Given the description of an element on the screen output the (x, y) to click on. 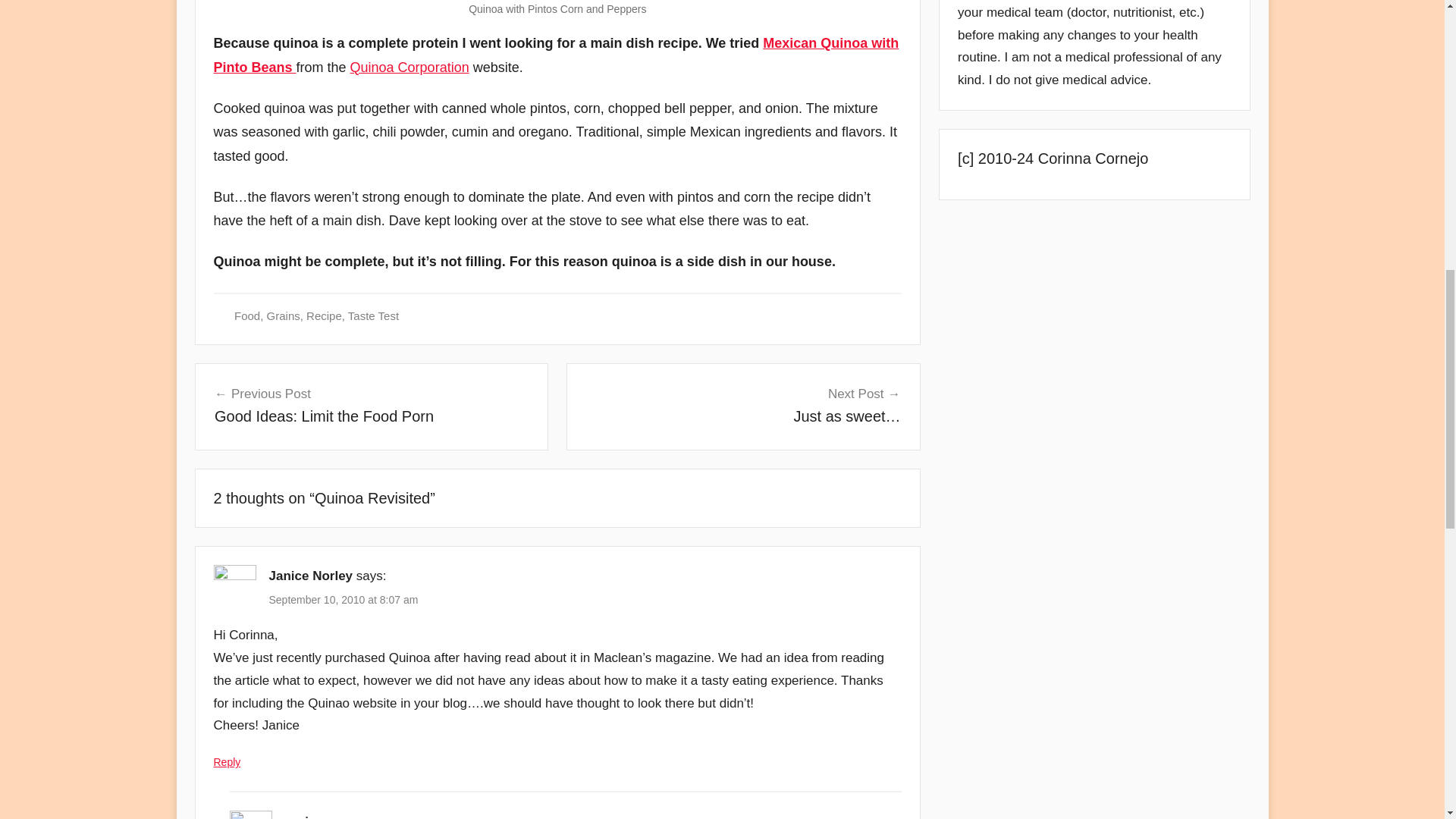
Quinoa Corporation (409, 67)
Food (247, 315)
Reply (227, 761)
September 10, 2010 at 8:07 am (342, 599)
Mexican Quinoa with Pinto Beans (556, 55)
Recipe (371, 404)
Quinoa Corporation (323, 315)
Grains (409, 67)
Taste Test (282, 315)
Quinoa recipes (372, 315)
